Given the description of an element on the screen output the (x, y) to click on. 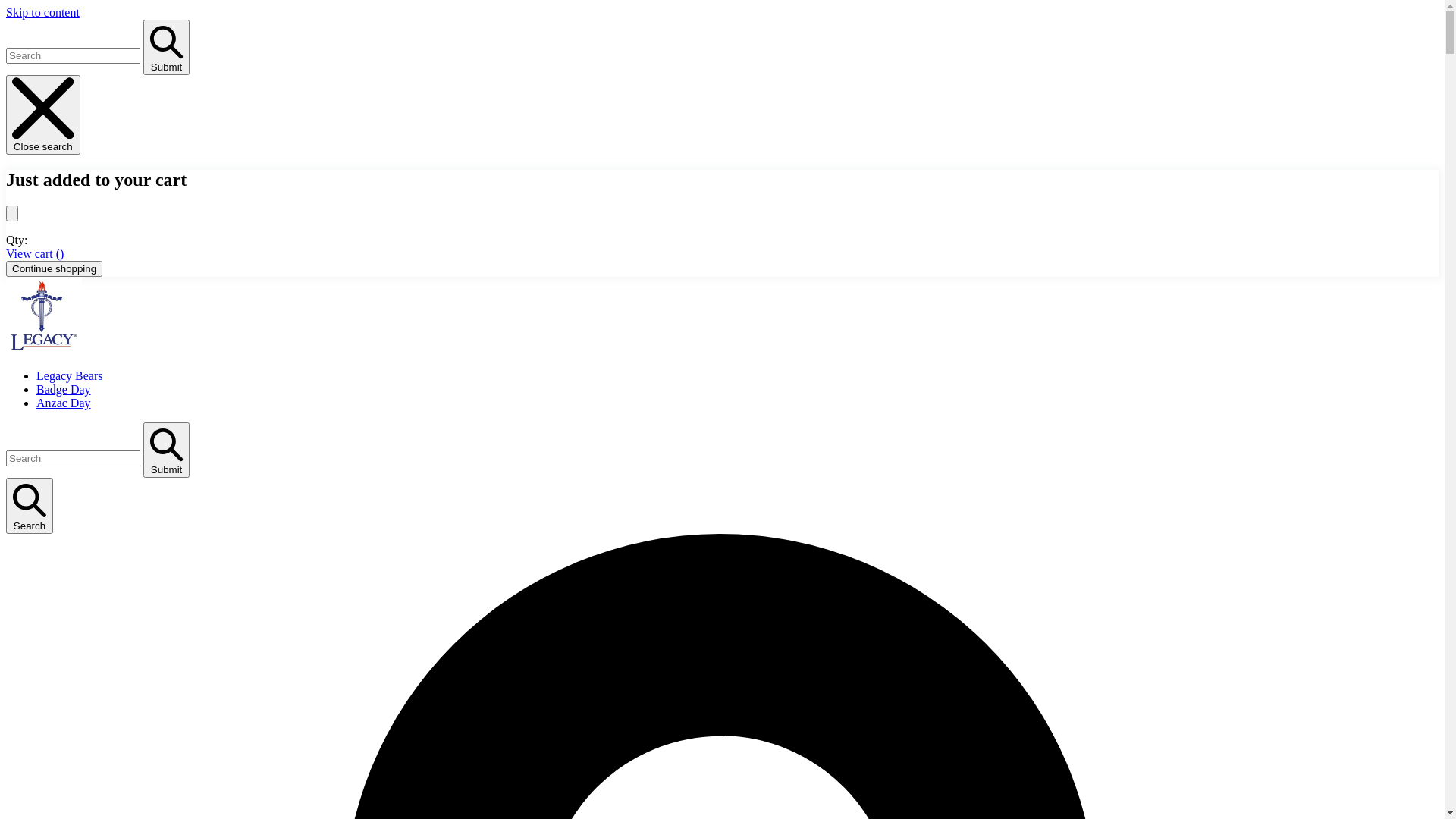
Submit Element type: text (166, 47)
Continue shopping Element type: text (54, 268)
Submit Element type: text (166, 449)
View cart () Element type: text (34, 253)
Badge Day Element type: text (63, 388)
Legacy Bears Element type: text (69, 375)
Anzac Day Element type: text (63, 402)
Search Element type: text (29, 505)
Skip to content Element type: text (42, 12)
Close search Element type: text (43, 115)
